Given the description of an element on the screen output the (x, y) to click on. 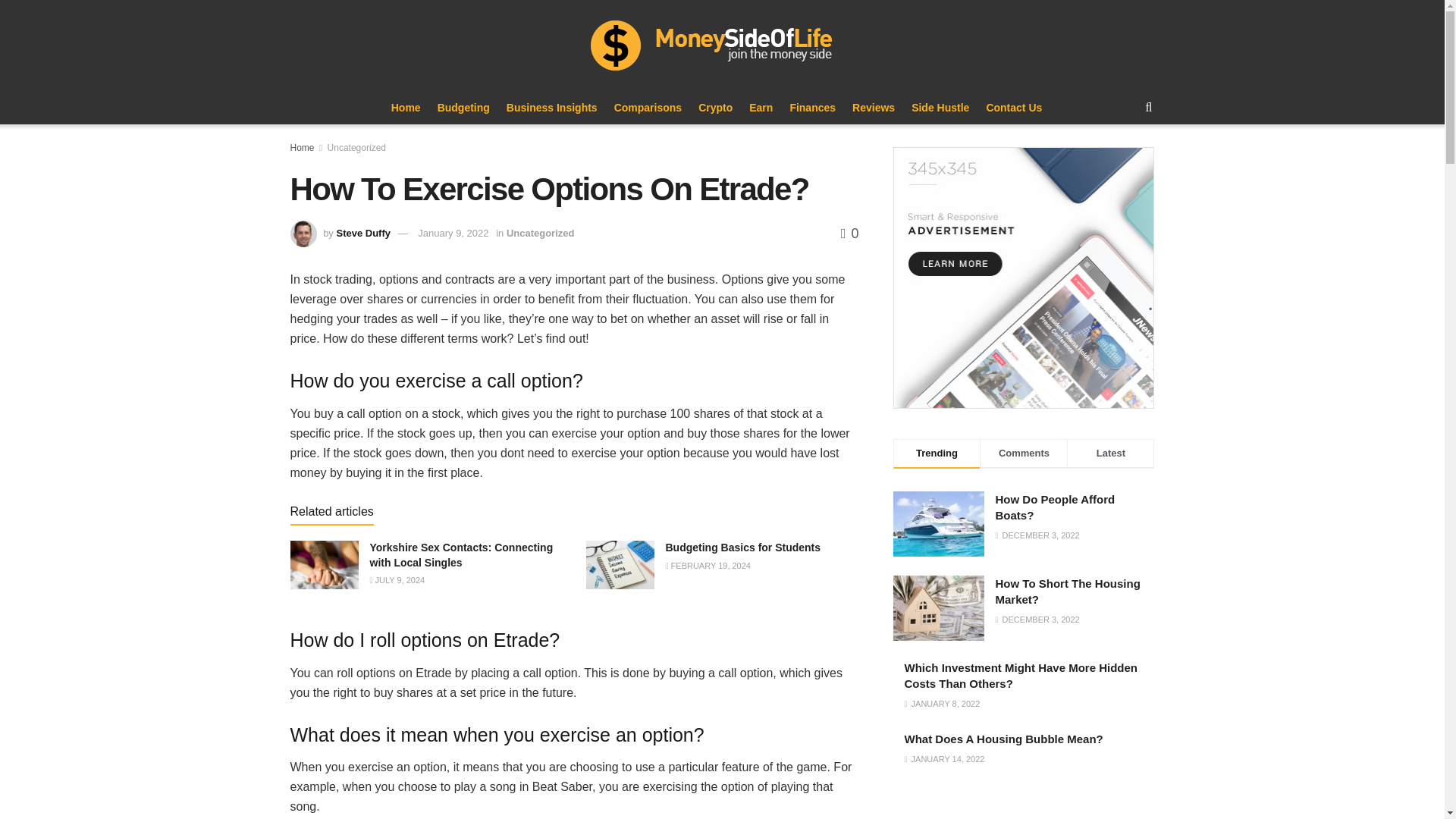
Reviews (873, 107)
Steve Duffy (363, 233)
Business Insights (551, 107)
Earn (761, 107)
0 (850, 233)
Home (301, 147)
Uncategorized (356, 147)
January 9, 2022 (452, 233)
Crypto (715, 107)
Side Hustle (940, 107)
